Given the description of an element on the screen output the (x, y) to click on. 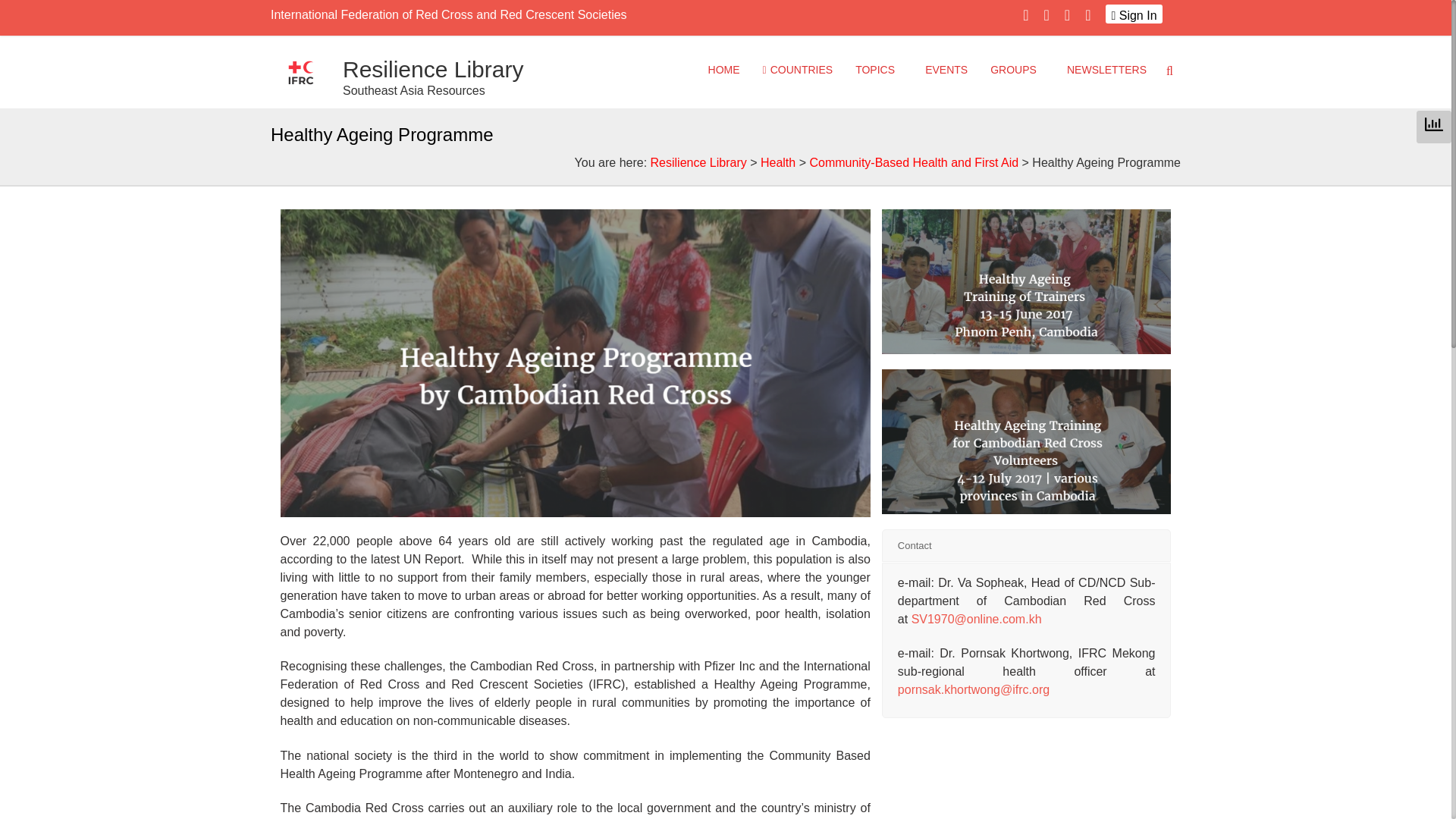
HOME (724, 69)
COUNTRIES (797, 69)
Go to Community-Based Health and First Aid. (913, 162)
Resilience Library (432, 68)
Go to Resilience Library. (698, 162)
Healthy Ageing TOT with text (1027, 281)
Healthy ageing training for volunteers cambodia (1027, 441)
Sign In (1133, 13)
TOPICS (879, 69)
Resilience Library (432, 68)
Go to Health. (777, 162)
